Given the description of an element on the screen output the (x, y) to click on. 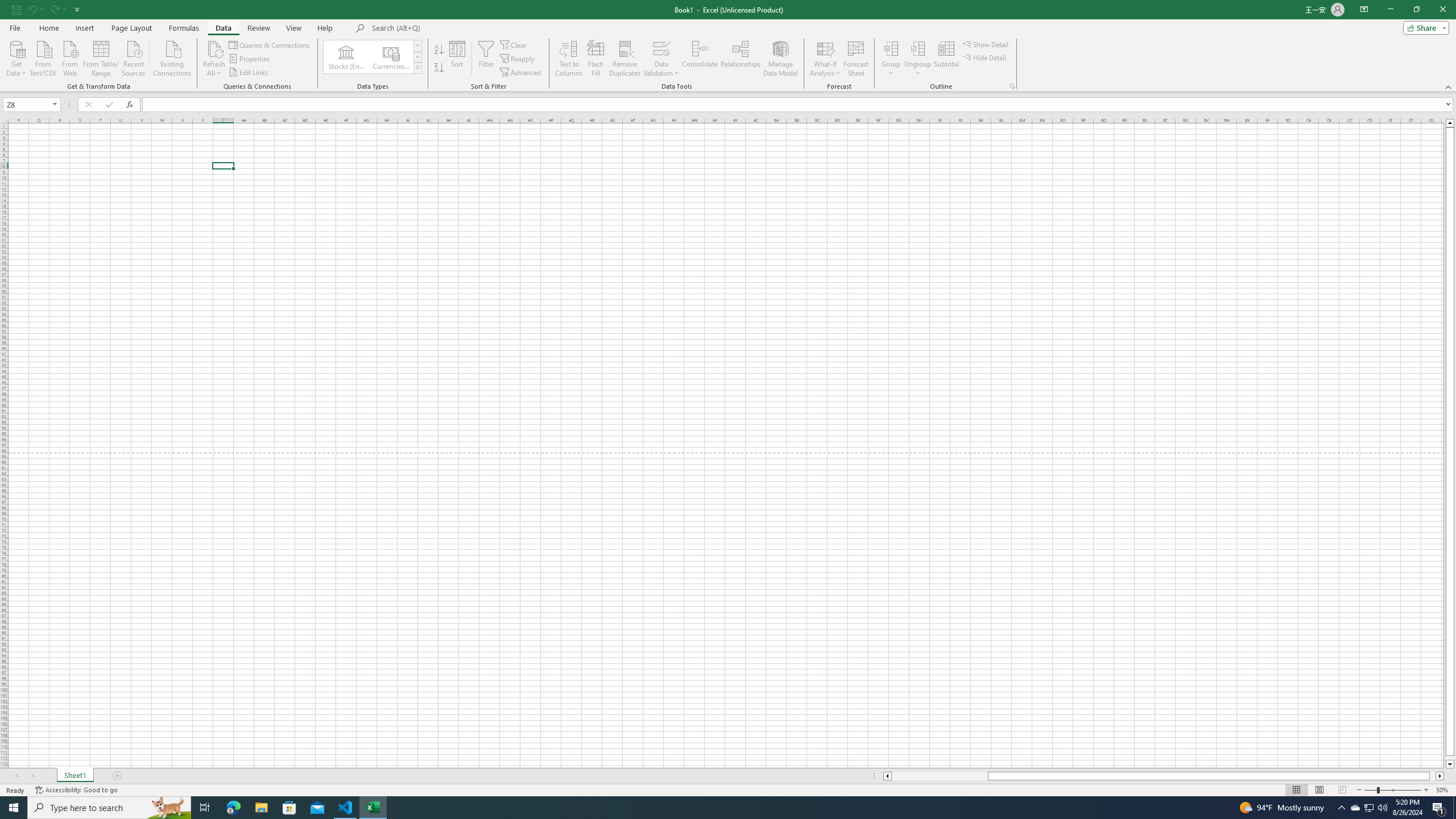
What-If Analysis (825, 58)
Sort Z to A (438, 67)
Page left (939, 775)
Subtotal (946, 58)
Scroll Left (16, 775)
Sort... (456, 58)
